Given the description of an element on the screen output the (x, y) to click on. 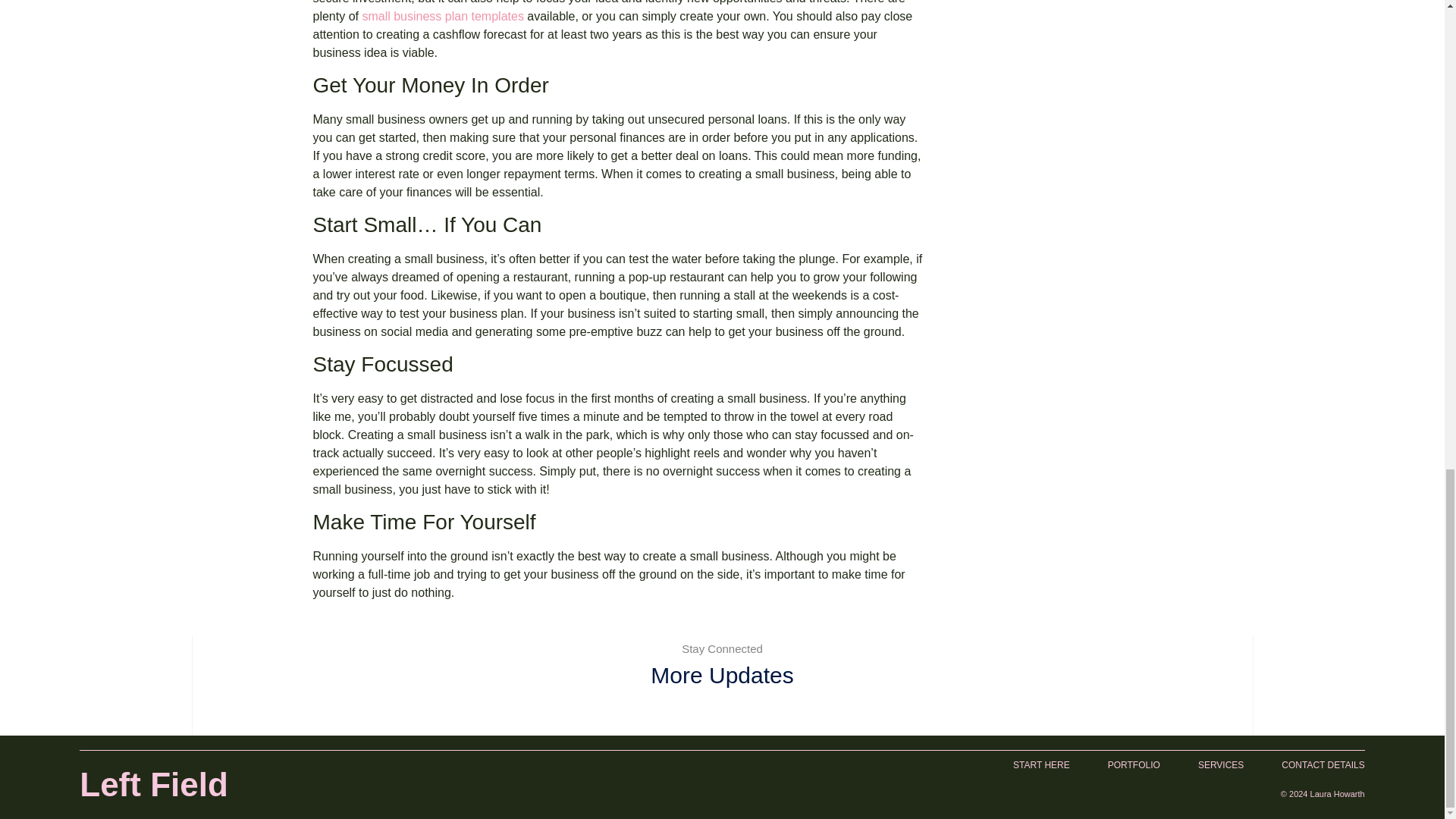
small business plan templates (441, 15)
Left Field (154, 784)
